Given the description of an element on the screen output the (x, y) to click on. 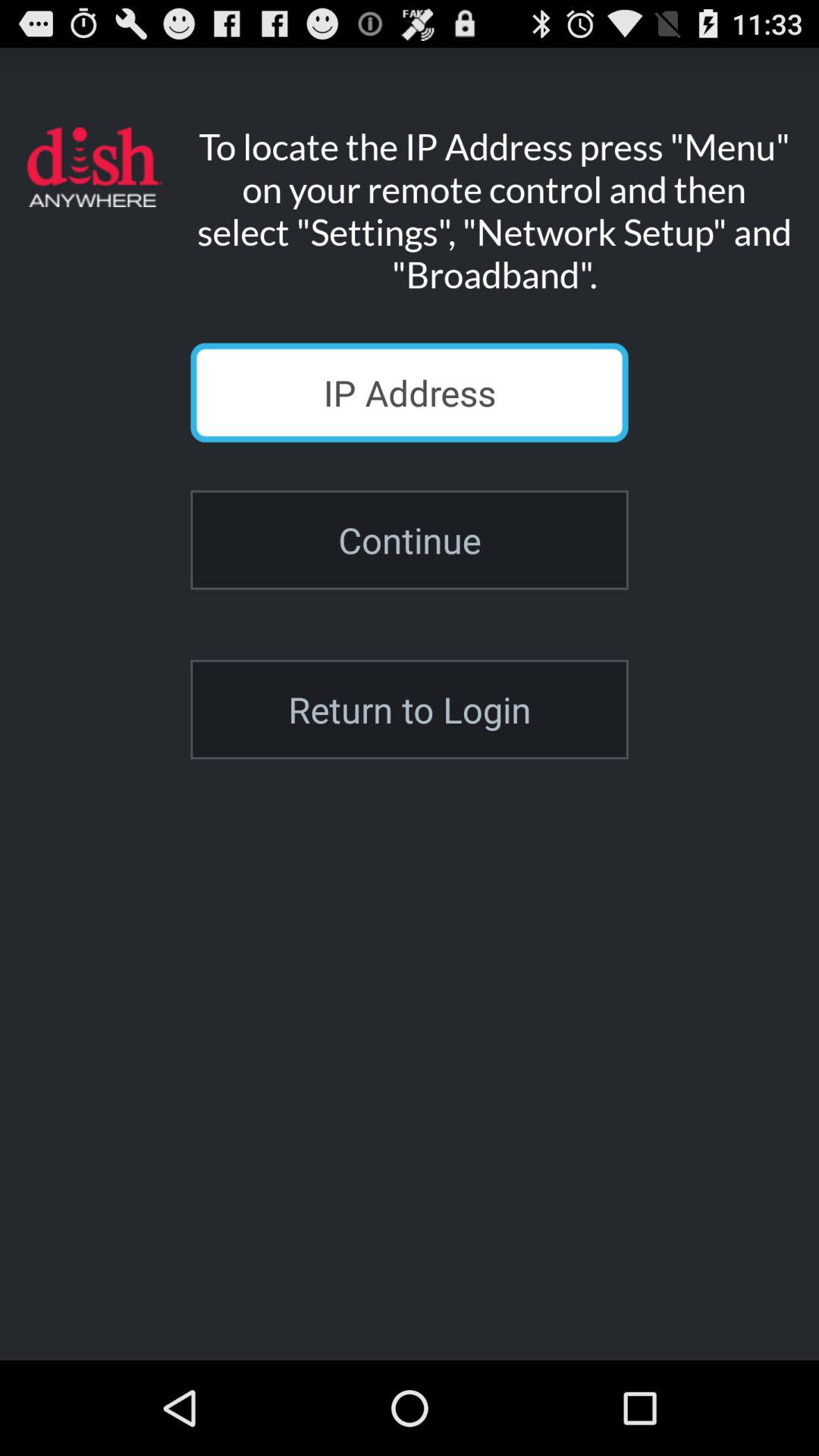
turn on the continue icon (409, 539)
